Given the description of an element on the screen output the (x, y) to click on. 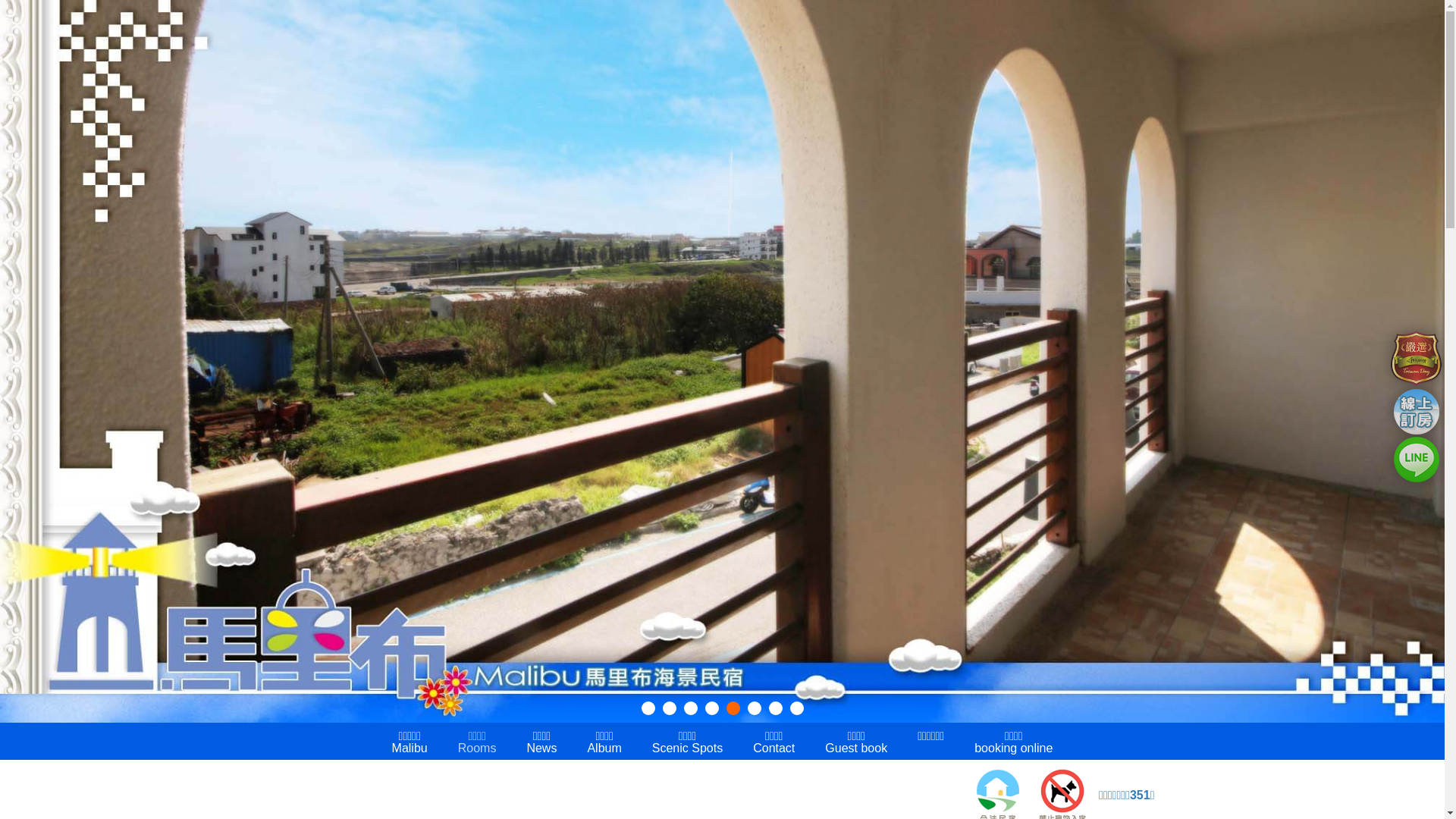
4 Element type: text (711, 708)
6 Element type: text (754, 708)
8 Element type: text (796, 708)
3 Element type: text (690, 708)
7 Element type: text (775, 708)
1 Element type: text (648, 708)
5 Element type: text (733, 708)
2 Element type: text (669, 708)
